Given the description of an element on the screen output the (x, y) to click on. 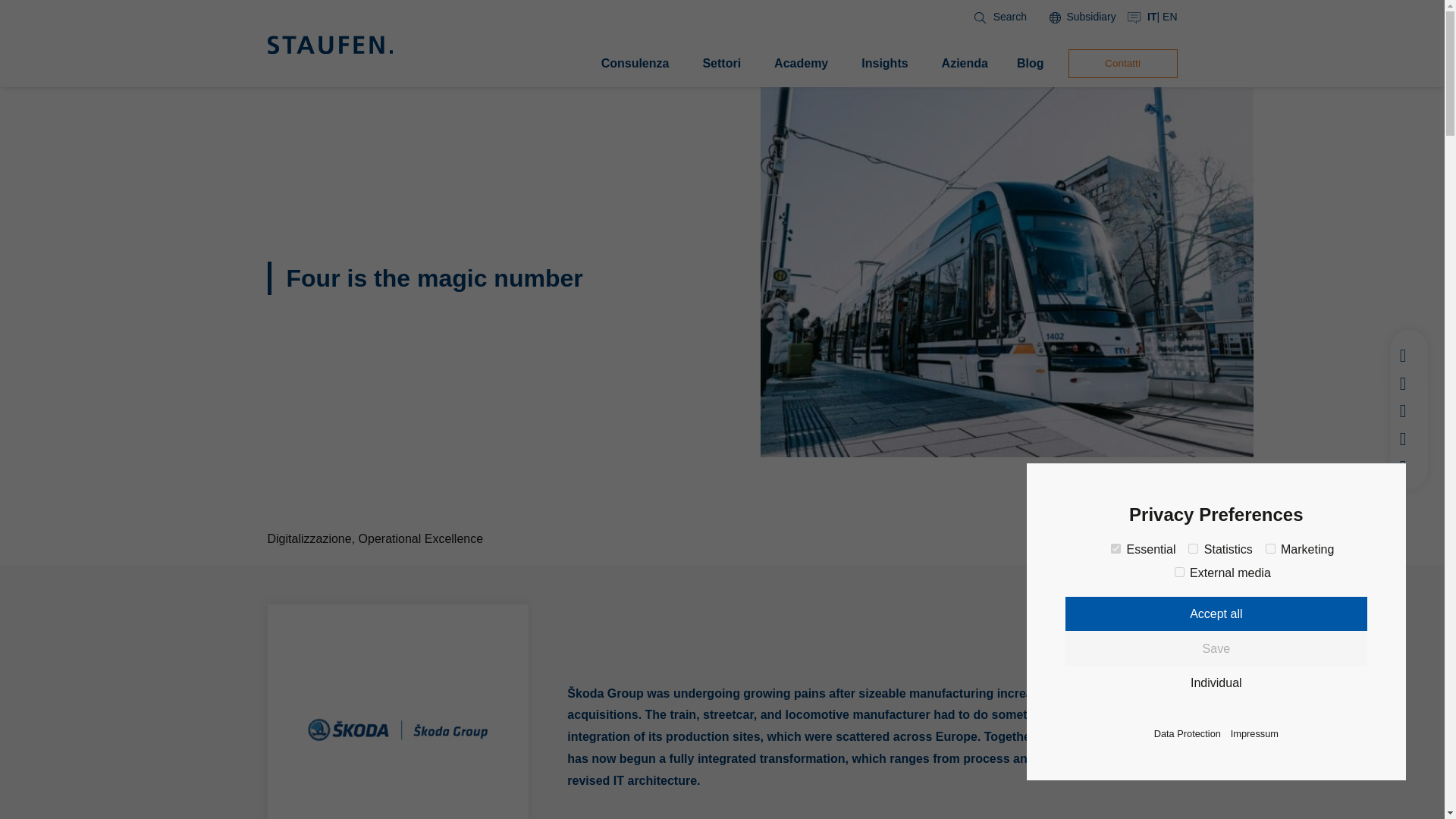
on (1270, 548)
Blog (1029, 63)
Settori (721, 63)
on (1179, 572)
Contatti (1121, 63)
on (1193, 548)
Consulenza (635, 63)
Insights (884, 63)
on (1115, 548)
Academy (801, 63)
Search (996, 16)
EN (1168, 16)
Azienda (964, 63)
